Given the description of an element on the screen output the (x, y) to click on. 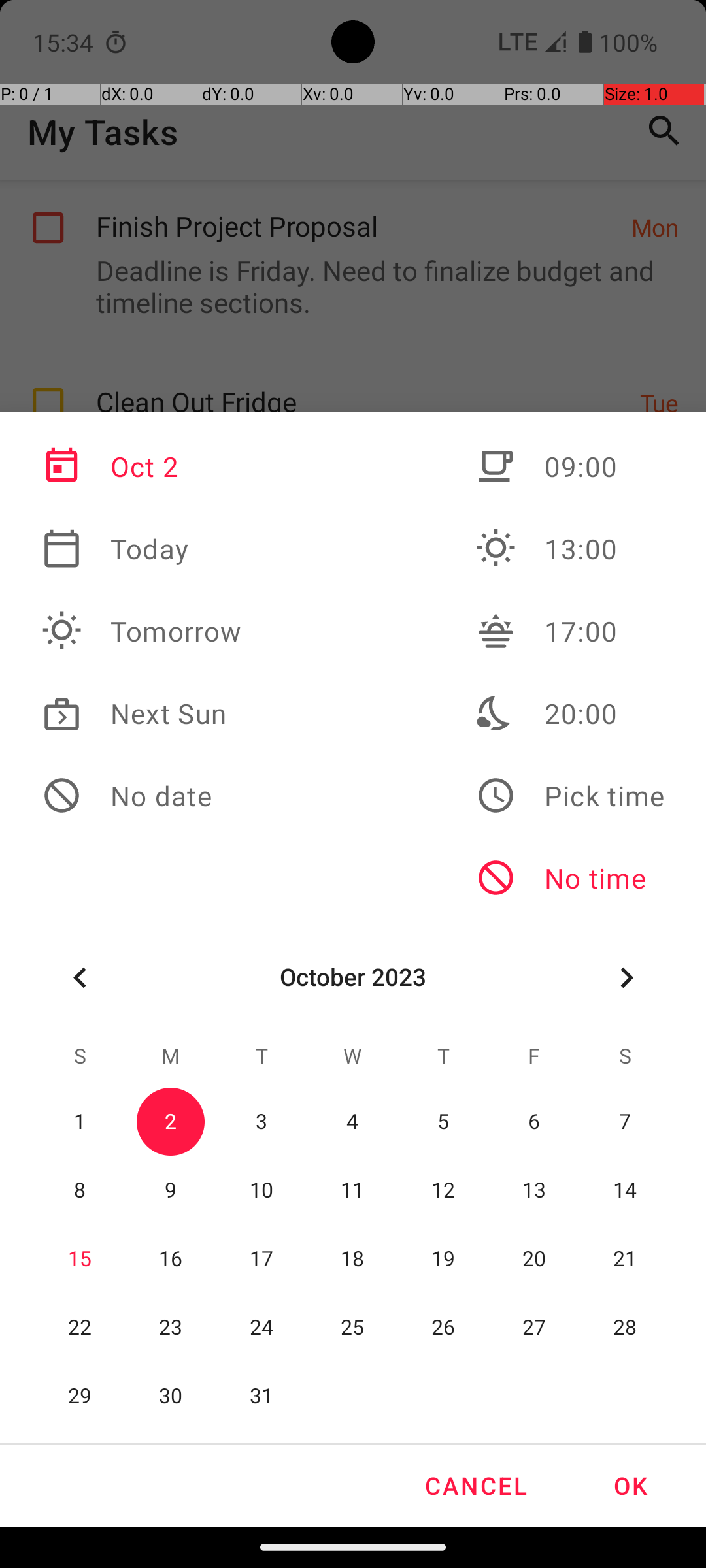
Oct 2 Element type: android.widget.CompoundButton (141, 466)
